Given the description of an element on the screen output the (x, y) to click on. 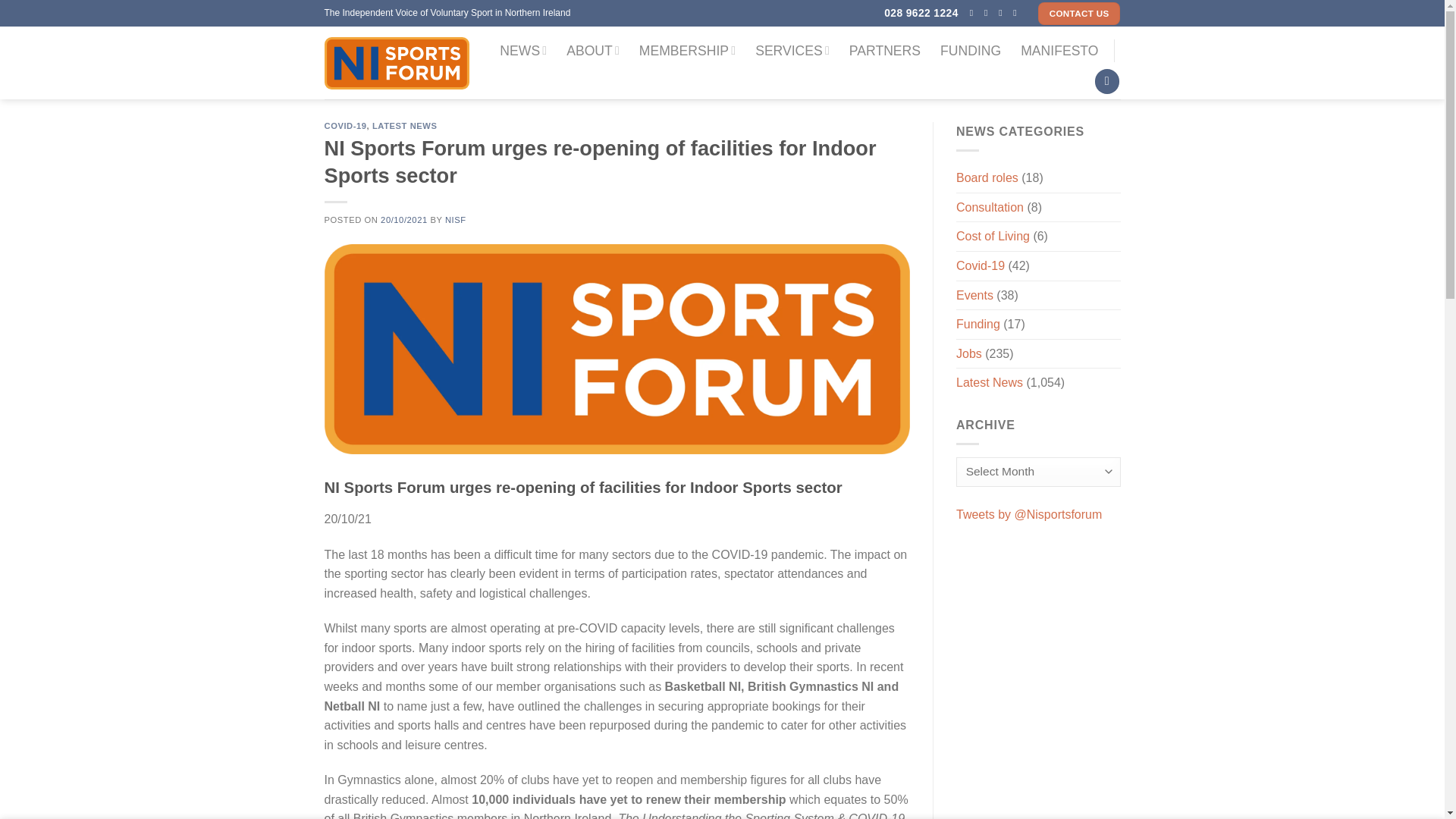
NEWS (523, 50)
CONTACT US (1079, 13)
028 9622 1224 (921, 13)
MEMBERSHIP (687, 50)
PARTNERS (884, 50)
FUNDING (970, 50)
ABOUT (593, 50)
SERVICES (792, 50)
